Given the description of an element on the screen output the (x, y) to click on. 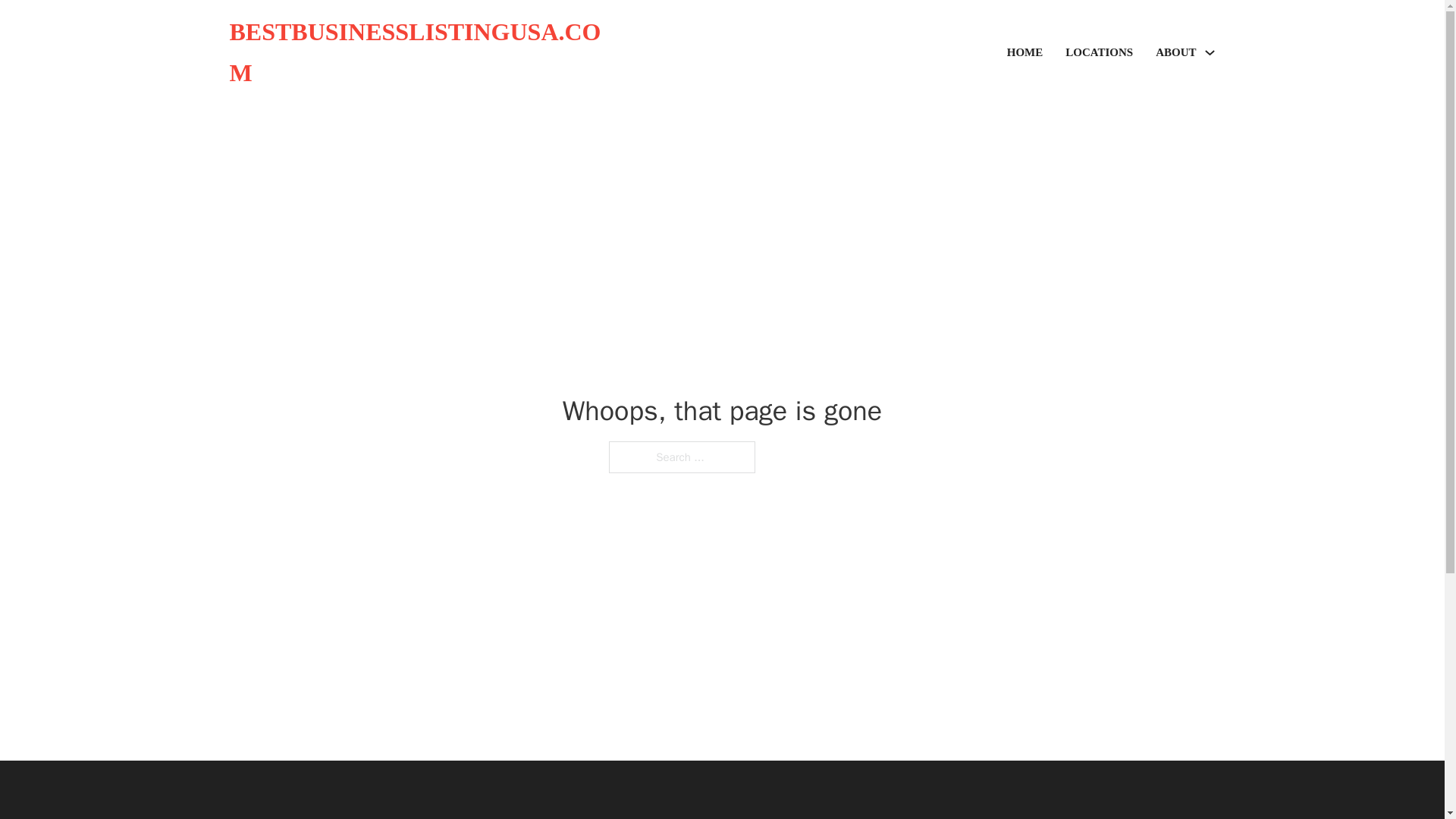
BESTBUSINESSLISTINGUSA.COM (425, 52)
LOCATIONS (1098, 53)
HOME (1025, 53)
